Given the description of an element on the screen output the (x, y) to click on. 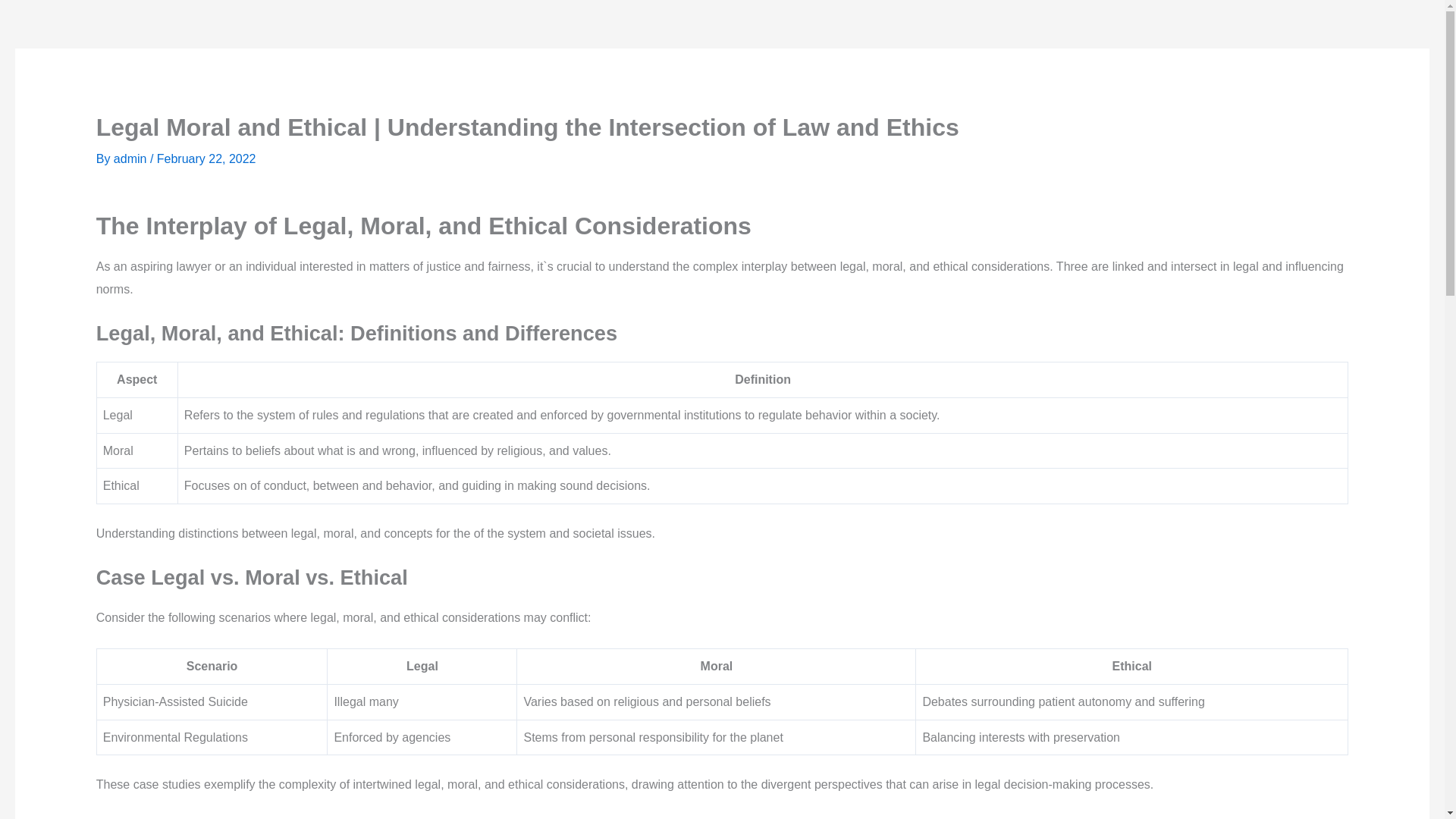
admin (131, 158)
View all posts by admin (131, 158)
